Given the description of an element on the screen output the (x, y) to click on. 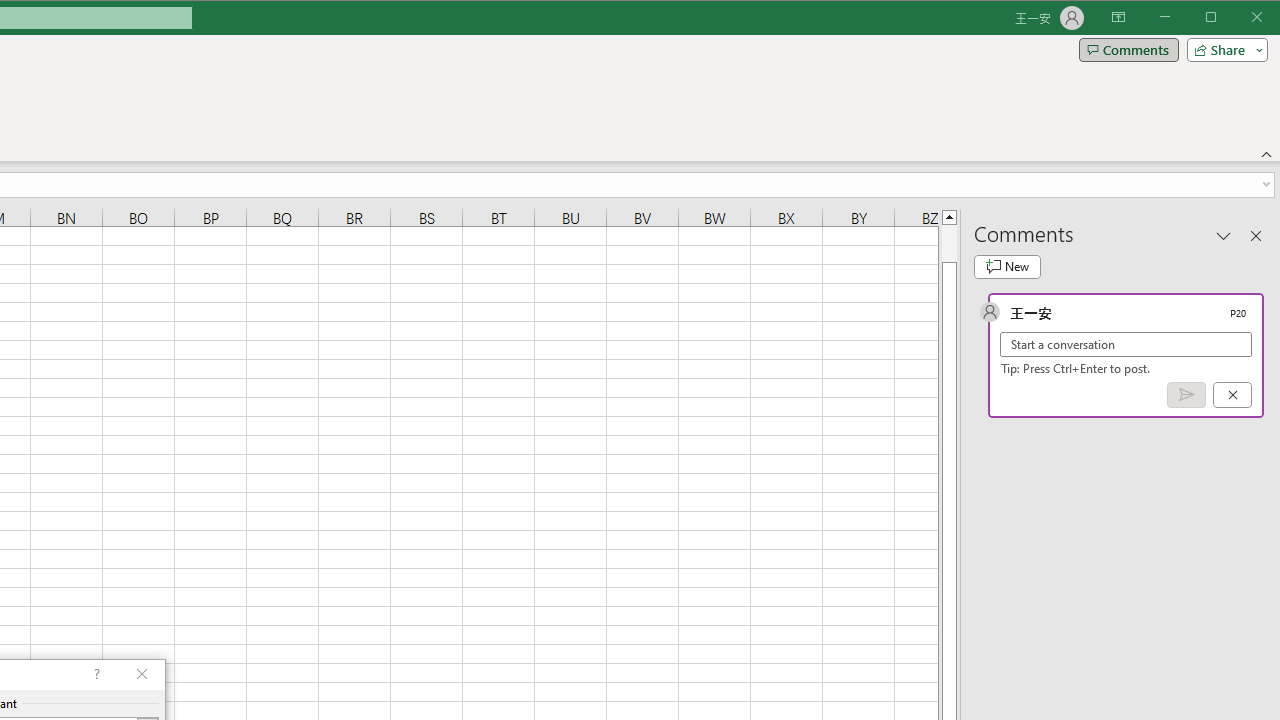
Minimize (1217, 18)
Ribbon Display Options (1118, 17)
Page up (948, 243)
Start a conversation (1126, 344)
Collapse the Ribbon (1267, 154)
Close pane (1256, 235)
Close (1261, 18)
New comment (1007, 266)
Line up (948, 216)
Comments (1128, 49)
Post comment (Ctrl + Enter) (1186, 395)
Task Pane Options (1224, 235)
Share (1223, 49)
